Given the description of an element on the screen output the (x, y) to click on. 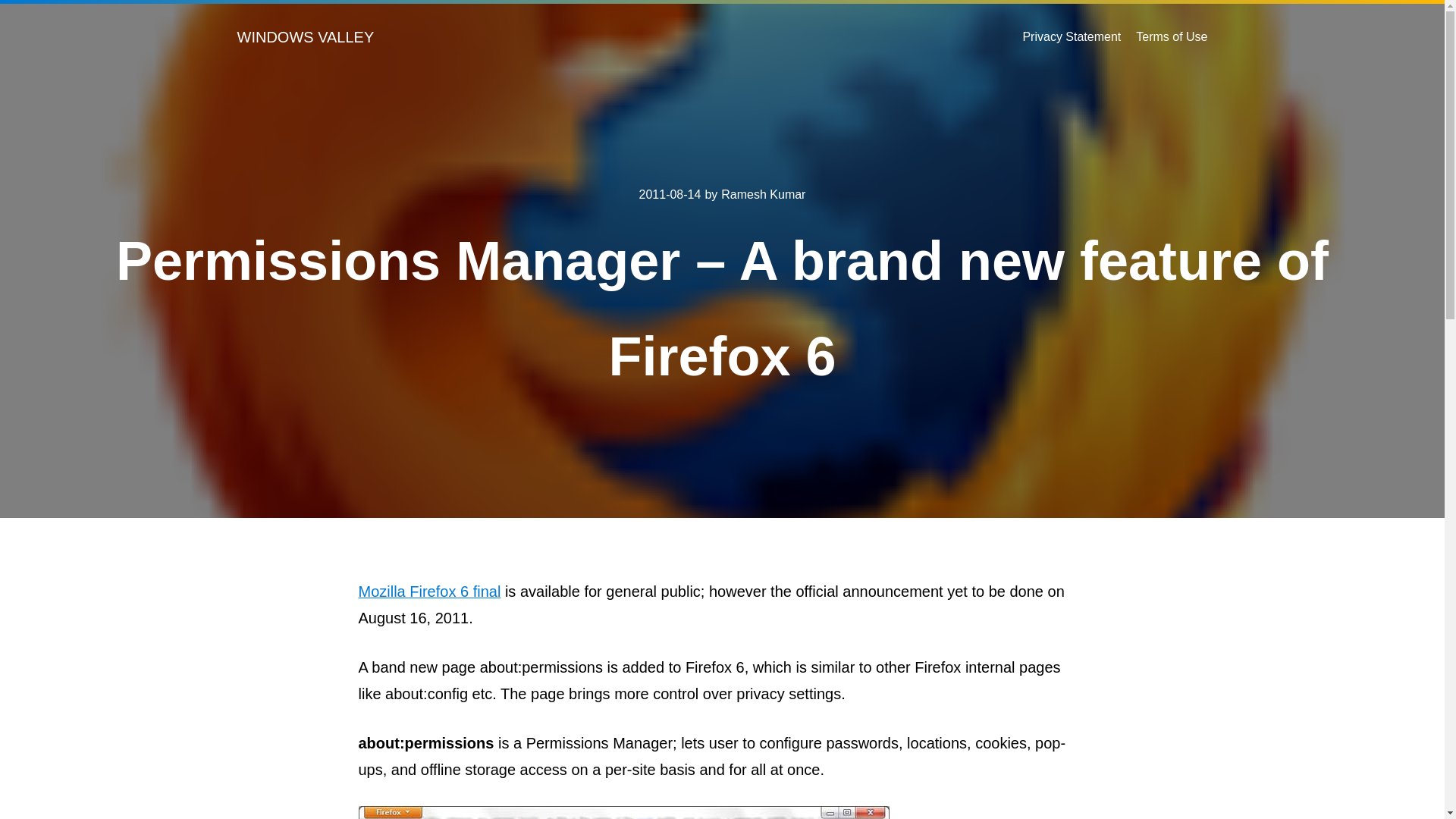
Download: Mozilla Firefox 6 final (429, 591)
Terms of Use (1171, 36)
Privacy Statement (1071, 36)
WINDOWS VALLEY (304, 36)
Firefox-6-Permissions-Manager (623, 812)
Mozilla Firefox 6 final (429, 591)
